Given the description of an element on the screen output the (x, y) to click on. 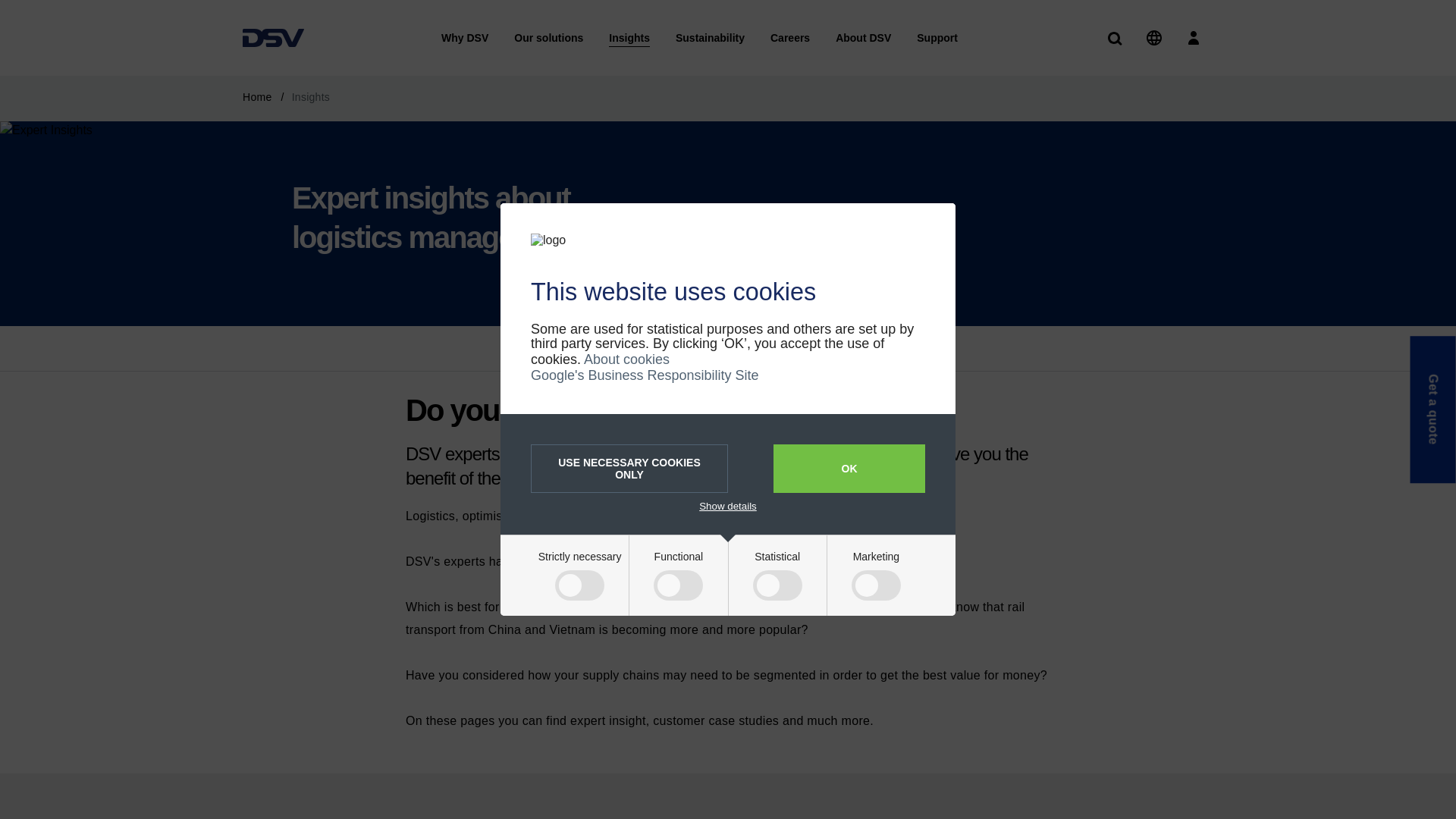
About cookies (626, 359)
USE NECESSARY COOKIES ONLY (629, 468)
Google's Business Responsibility Site (644, 375)
Show details (727, 505)
OK (848, 468)
